Given the description of an element on the screen output the (x, y) to click on. 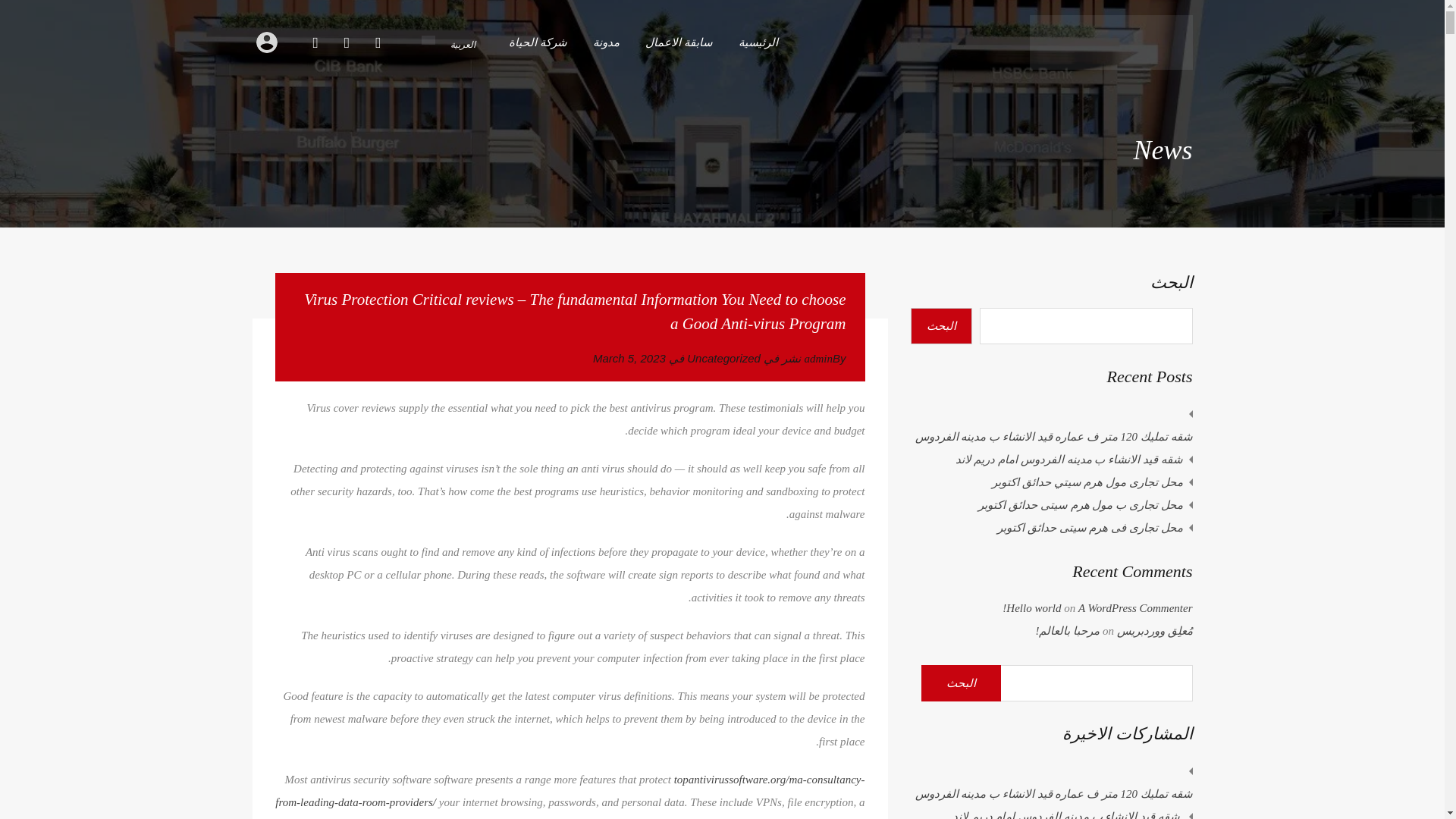
Uncategorized (723, 358)
Hello world! (1032, 608)
A WordPress Commenter (1135, 608)
